Given the description of an element on the screen output the (x, y) to click on. 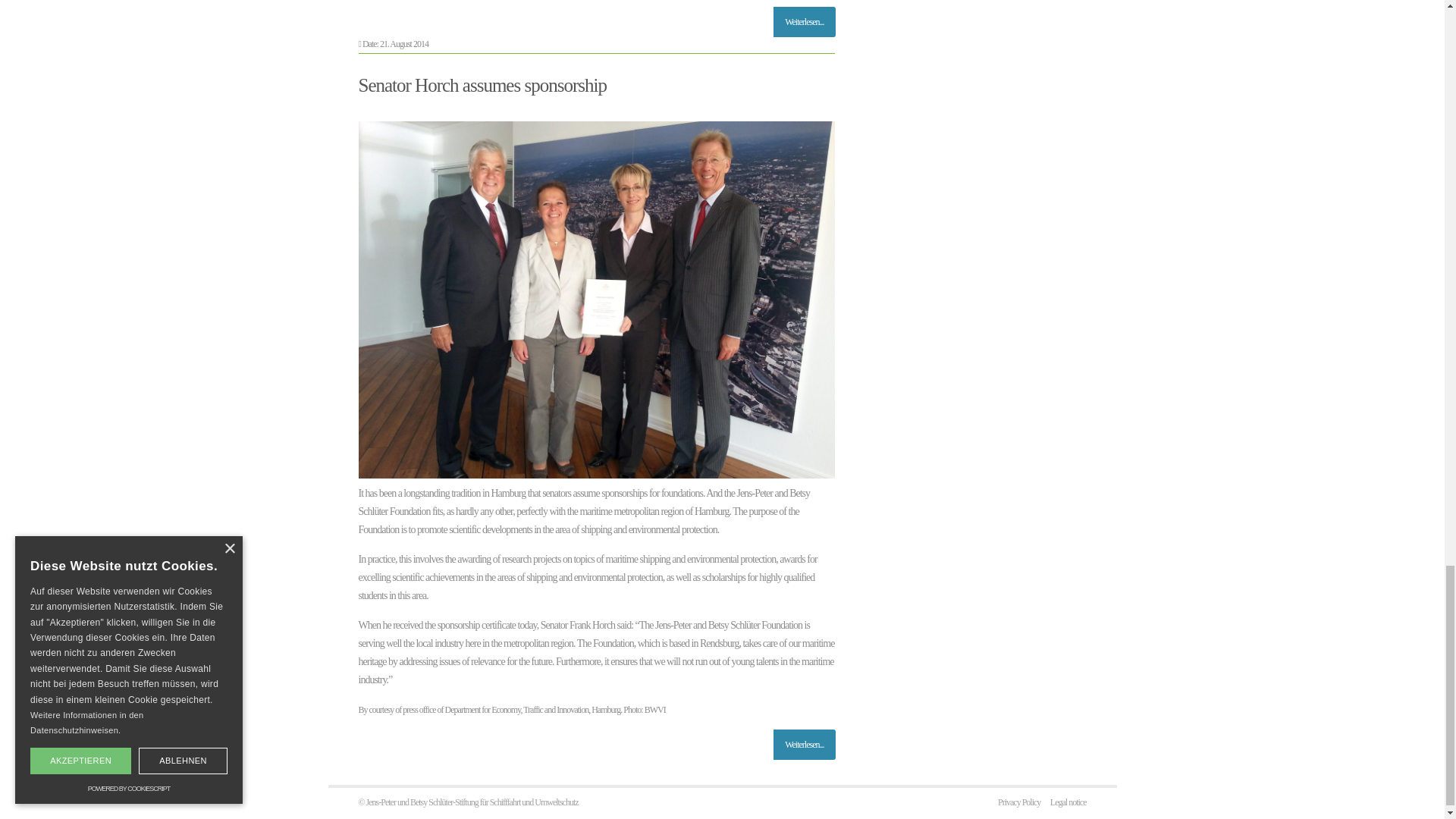
Weiterlesen... (803, 744)
Legal notice (1067, 801)
Weiterlesen... (803, 21)
Privacy Policy (1019, 801)
